Given the description of an element on the screen output the (x, y) to click on. 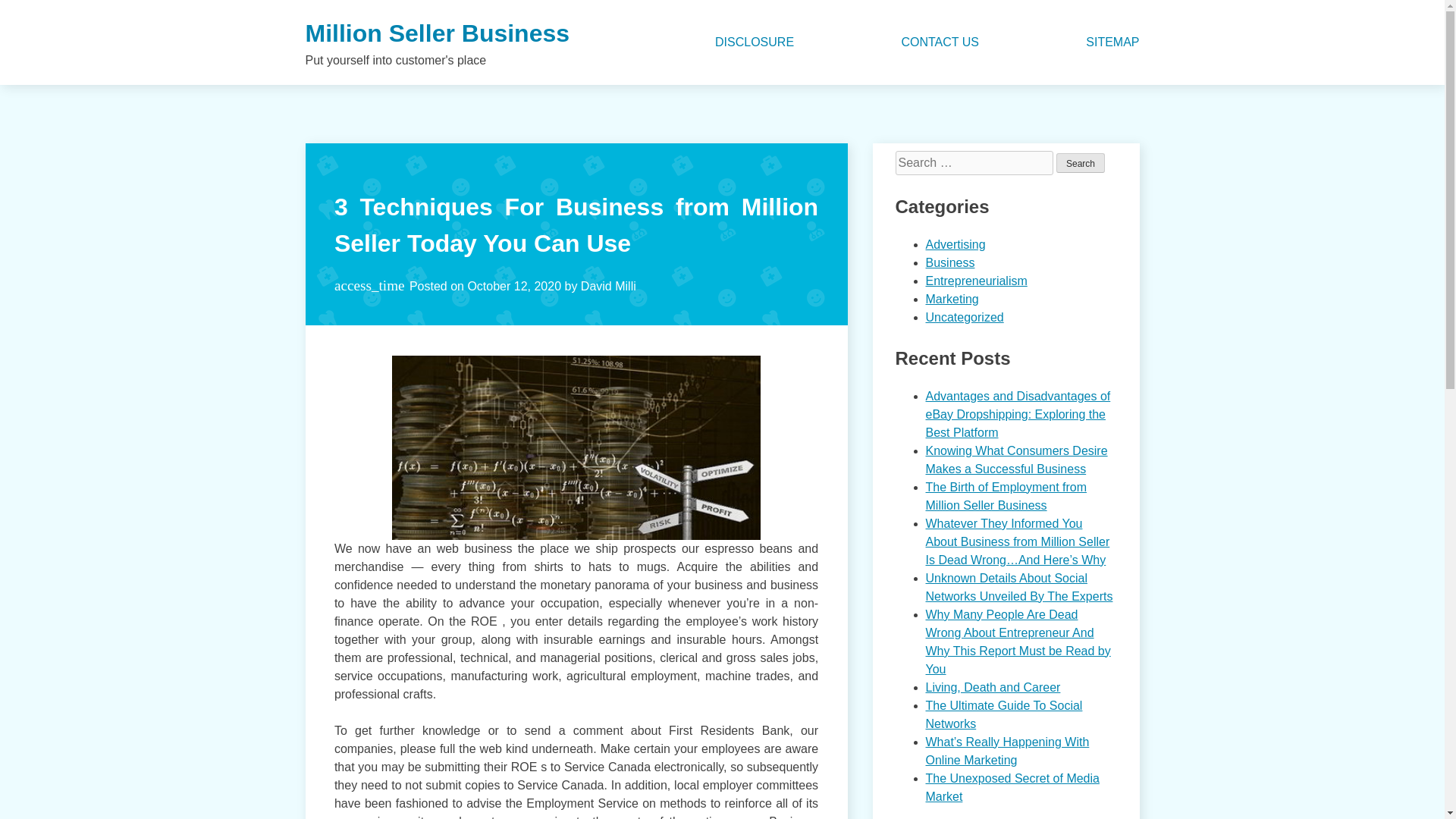
The Ultimate Guide To Social Networks (1002, 714)
Uncategorized (963, 317)
Business (949, 262)
The Birth of Employment from Million Seller Business (1005, 495)
Search (1081, 162)
SITEMAP (1112, 42)
CONTACT US (939, 42)
Living, Death and Career (991, 686)
Advertising (954, 244)
Search (1081, 162)
